Given the description of an element on the screen output the (x, y) to click on. 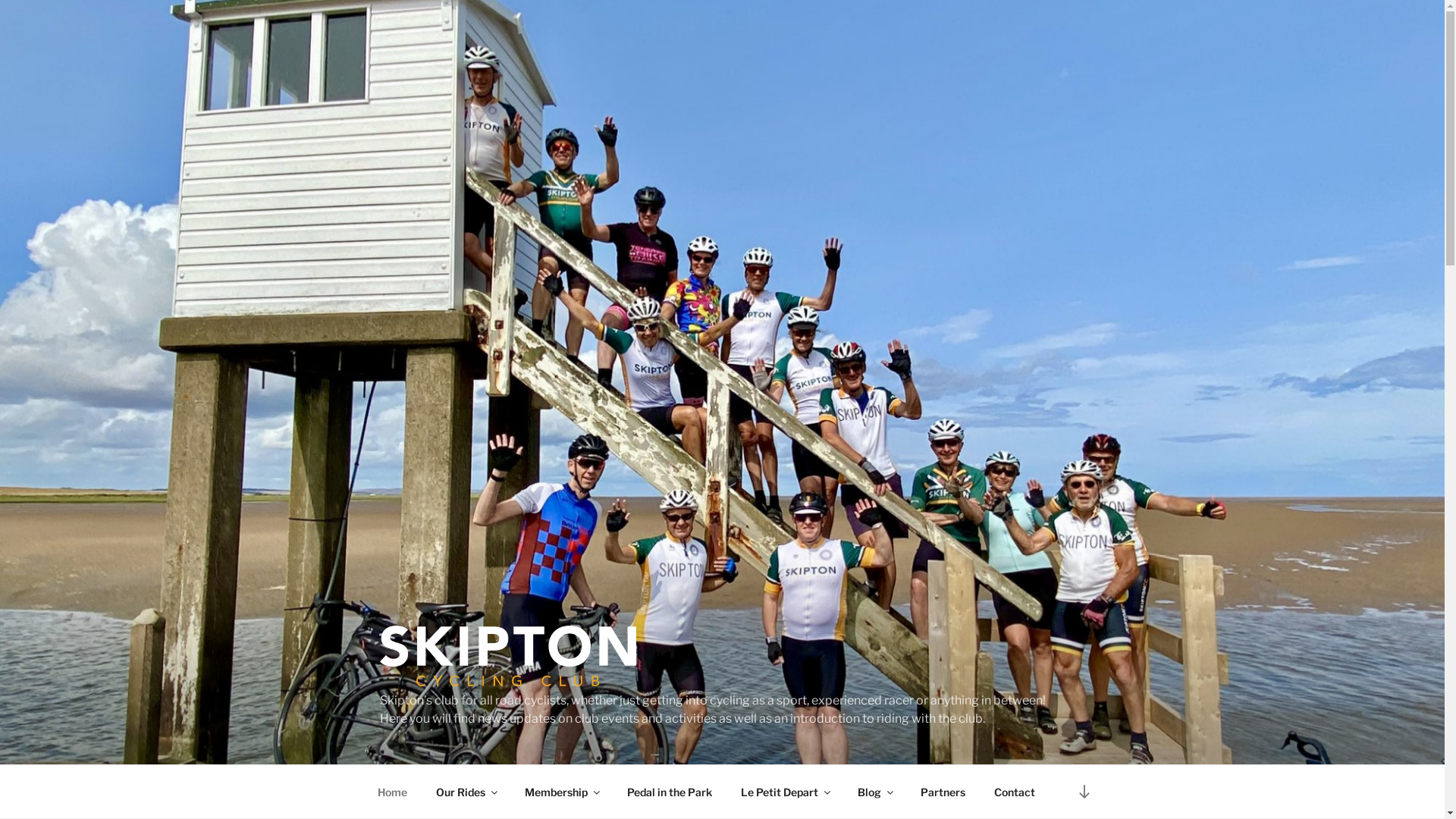
Blog Element type: text (874, 791)
Partners Element type: text (942, 791)
Scroll down to content Element type: text (1083, 790)
Pedal in the Park Element type: text (669, 791)
Home Element type: text (392, 791)
Le Petit Depart Element type: text (785, 791)
Membership Element type: text (561, 791)
Contact Element type: text (1014, 791)
Our Rides Element type: text (466, 791)
